Given the description of an element on the screen output the (x, y) to click on. 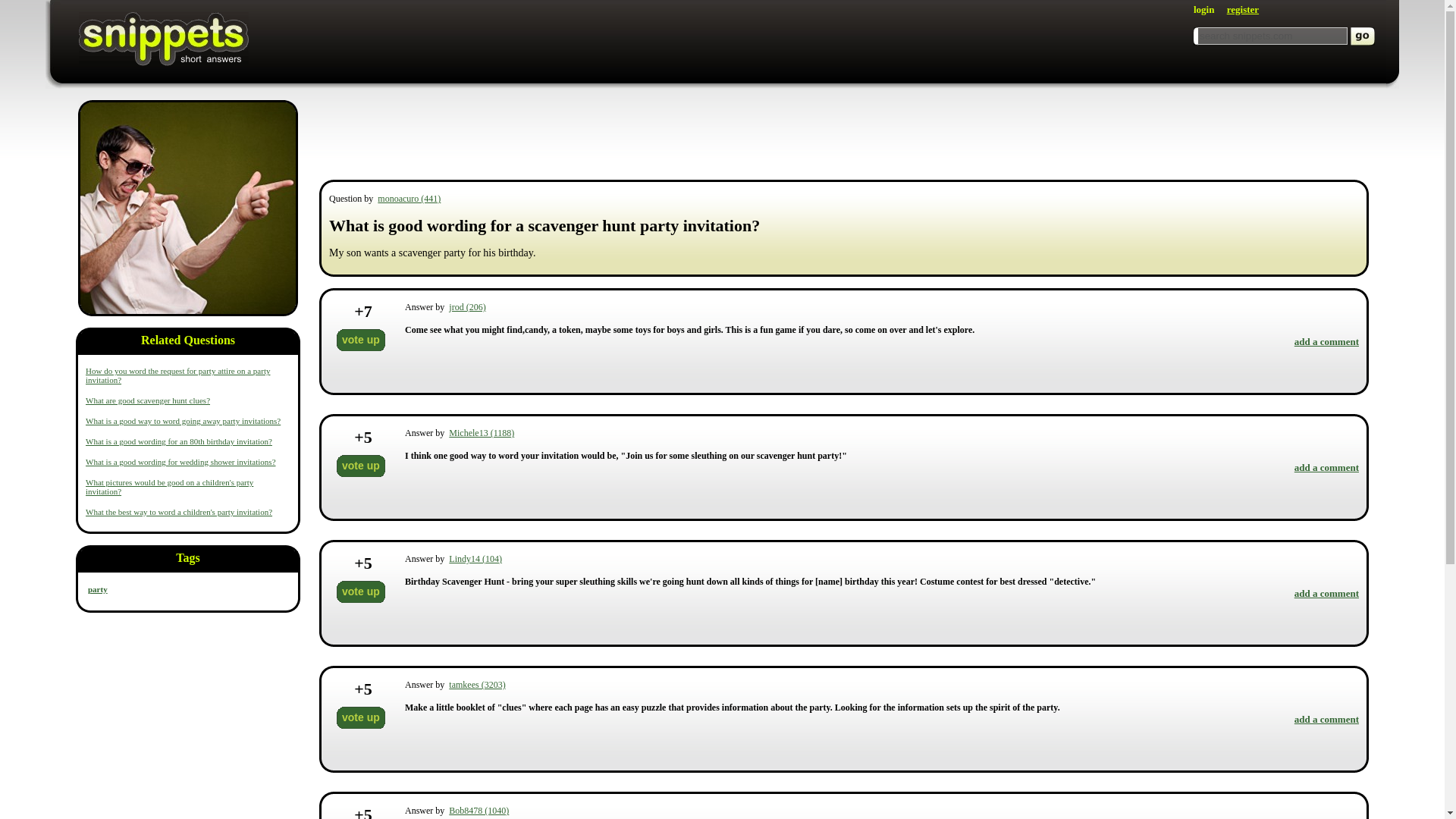
What is a good wording for an 80th birthday invitation? (178, 440)
register (1243, 9)
What is a good wording for wedding shower invitations? (180, 461)
vote up (361, 717)
What are good scavenger hunt clues? (147, 399)
What is a good way to word going away party invitations? (183, 420)
vote up (361, 465)
vote up (361, 591)
